Given the description of an element on the screen output the (x, y) to click on. 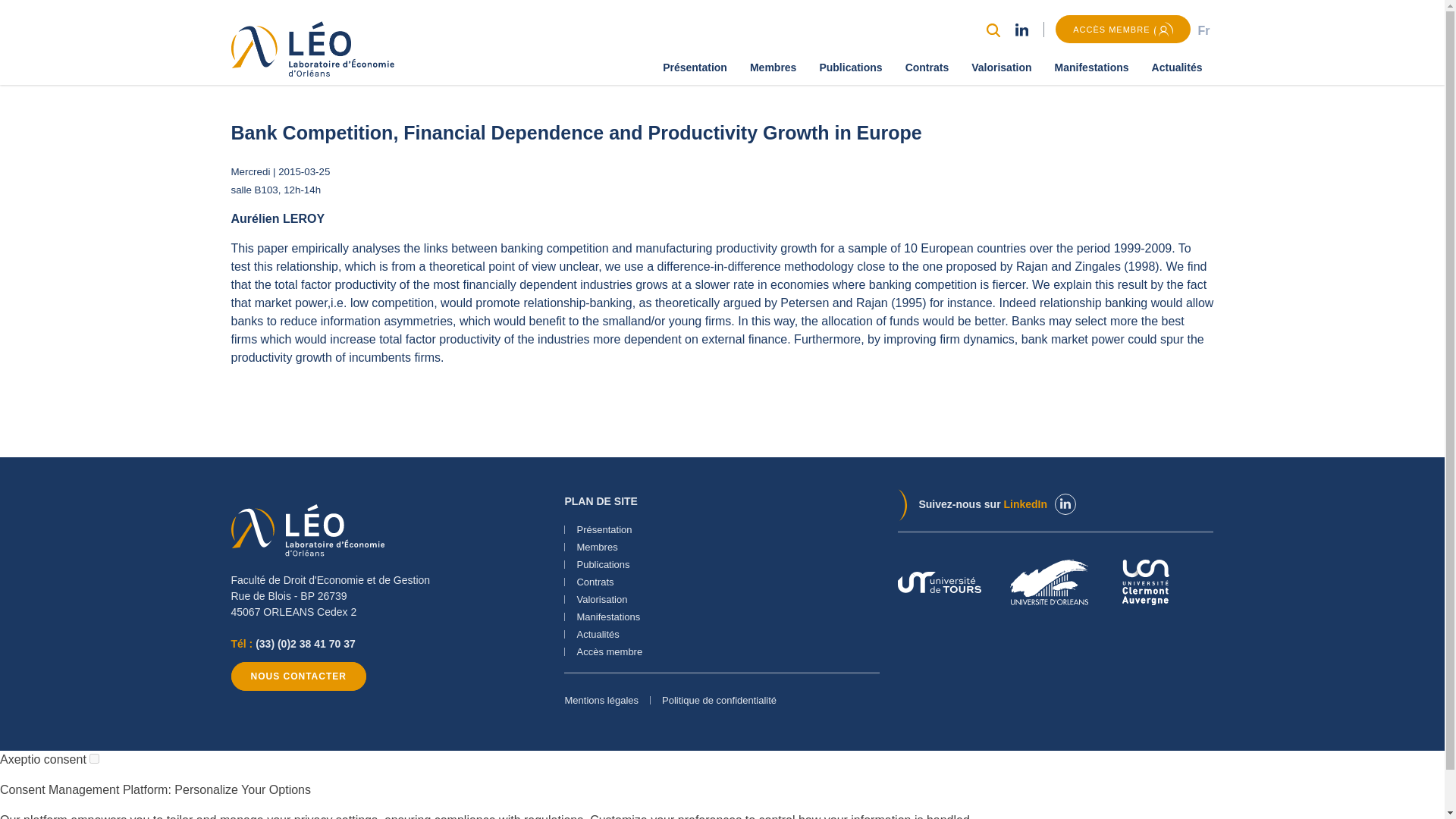
Valorisation (1000, 67)
Publications (850, 67)
Fr (1202, 30)
Contrats (926, 67)
Membres (773, 67)
Manifestations (1091, 67)
